Given the description of an element on the screen output the (x, y) to click on. 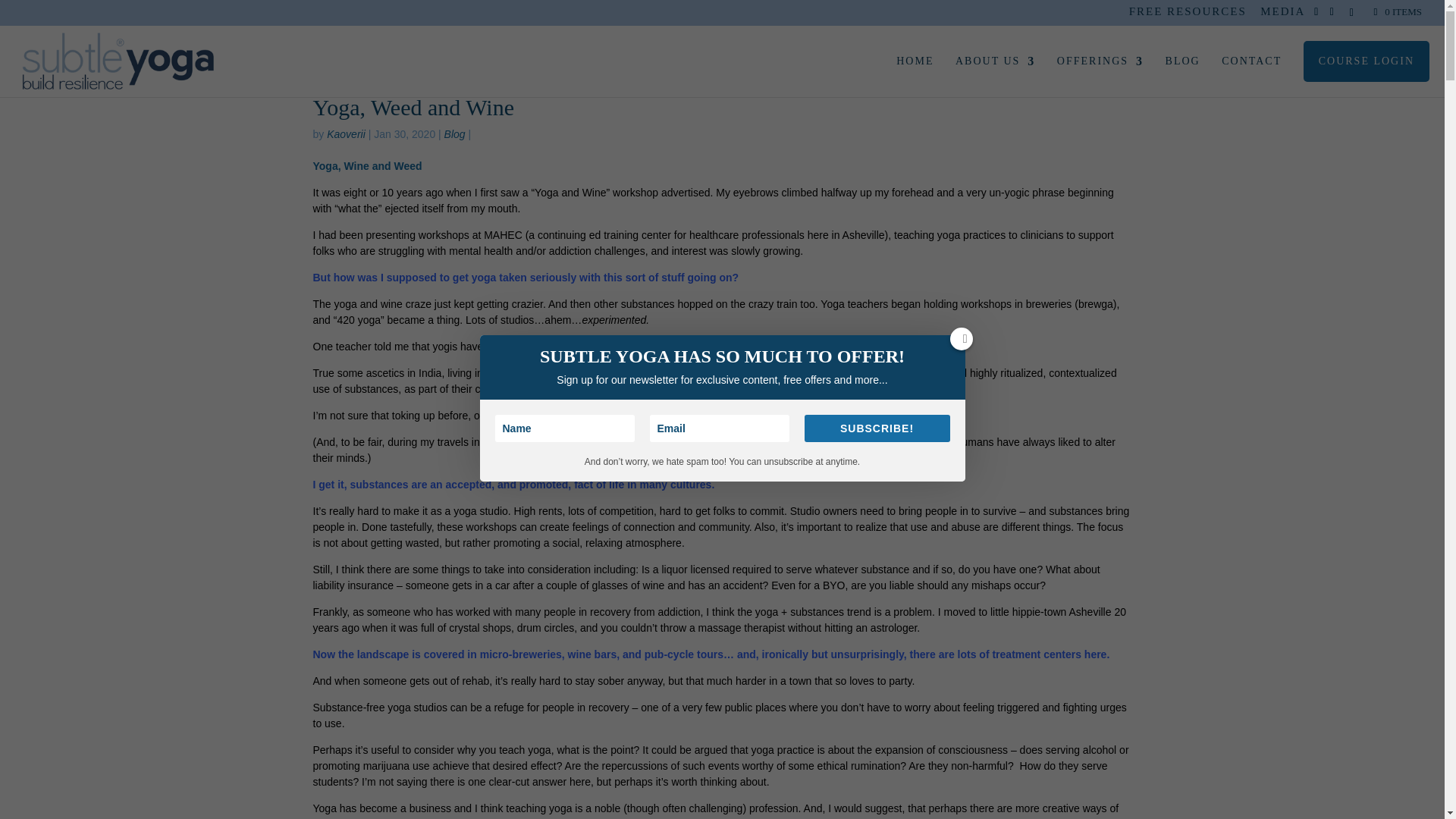
Posts by Kaoverii (345, 133)
MEDIA (1282, 15)
Kaoverii (345, 133)
FREE RESOURCES (1187, 15)
HOME (914, 68)
0 ITEMS (1396, 11)
OFFERINGS (1099, 68)
CONTACT (843, 15)
COURSE LOGIN (1366, 68)
BLOG (1182, 68)
ABOUT US (995, 68)
Blog (454, 133)
HOME (784, 15)
CONTACT (1251, 68)
